Given the description of an element on the screen output the (x, y) to click on. 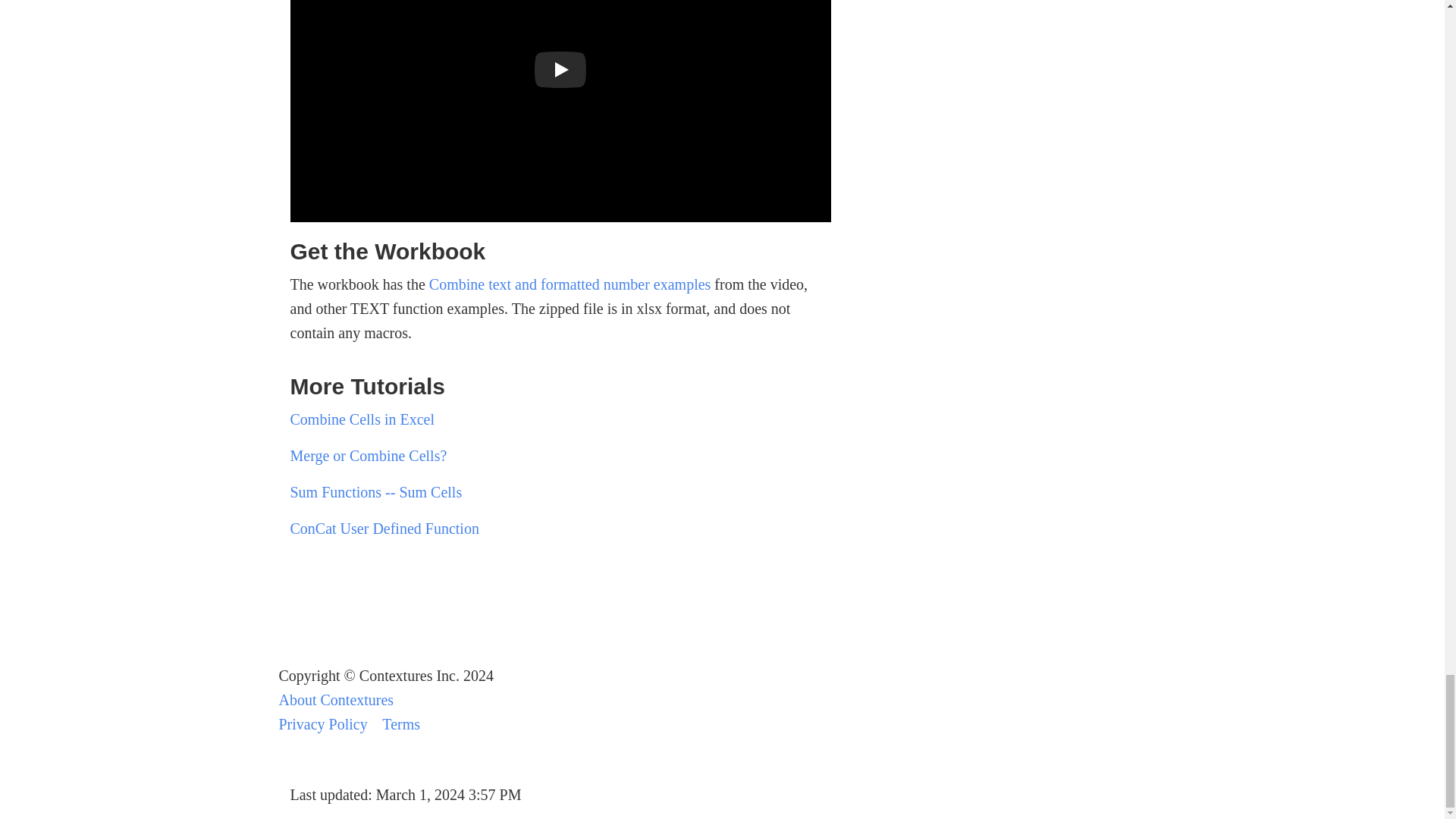
Combine text and formatted number examples (570, 284)
Combine Cells in Excel (361, 419)
Sum Functions -- Sum Cells (375, 492)
Play (560, 70)
ConCat User Defined Function (384, 528)
Merge or Combine Cells? (367, 455)
